Given the description of an element on the screen output the (x, y) to click on. 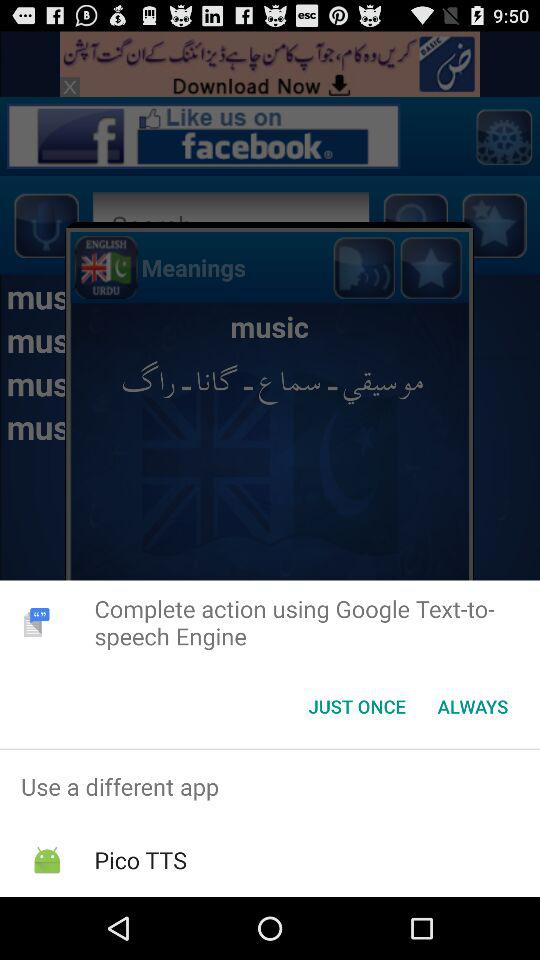
turn off the always (472, 706)
